Given the description of an element on the screen output the (x, y) to click on. 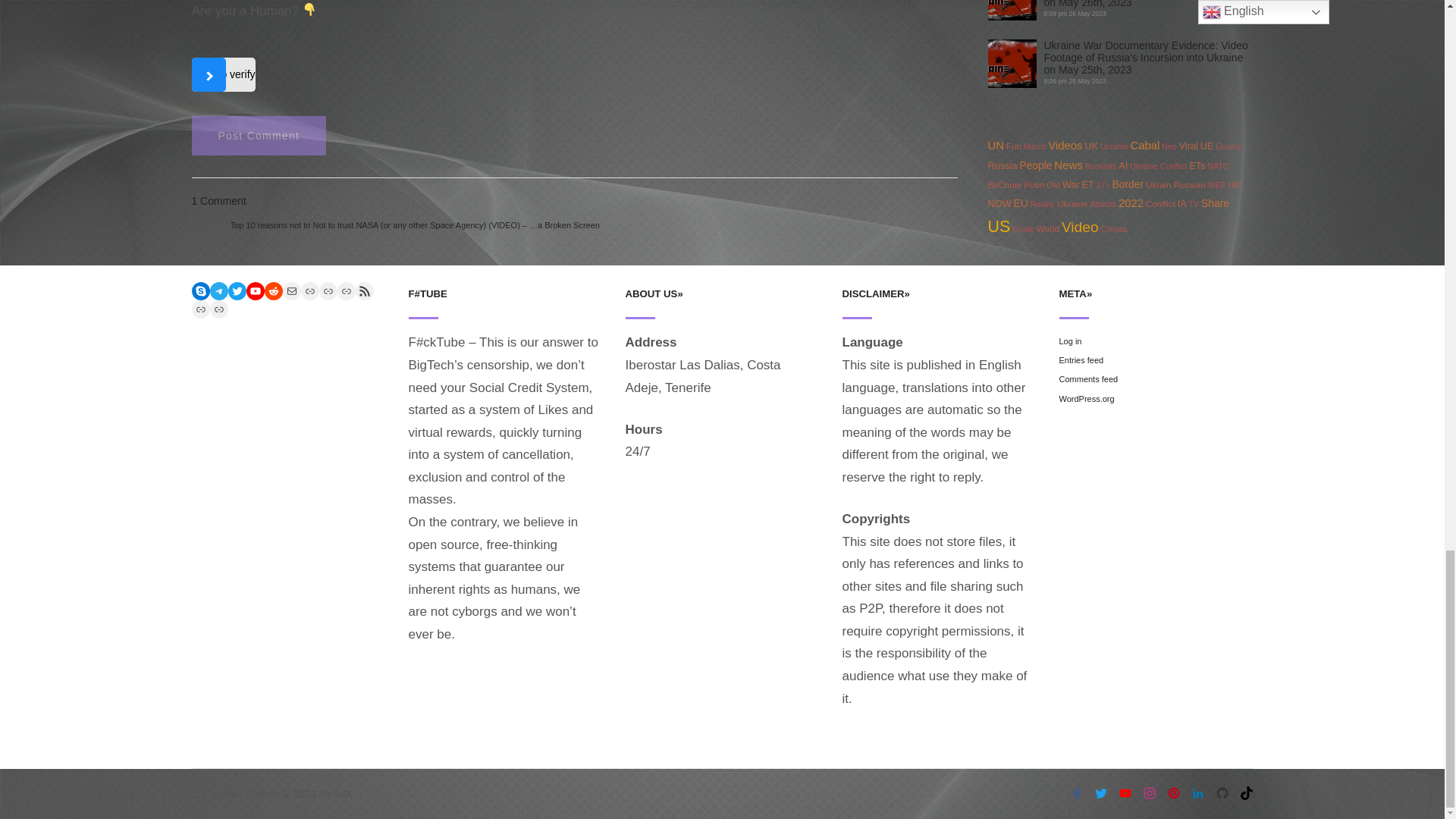
Post Comment (258, 135)
